Given the description of an element on the screen output the (x, y) to click on. 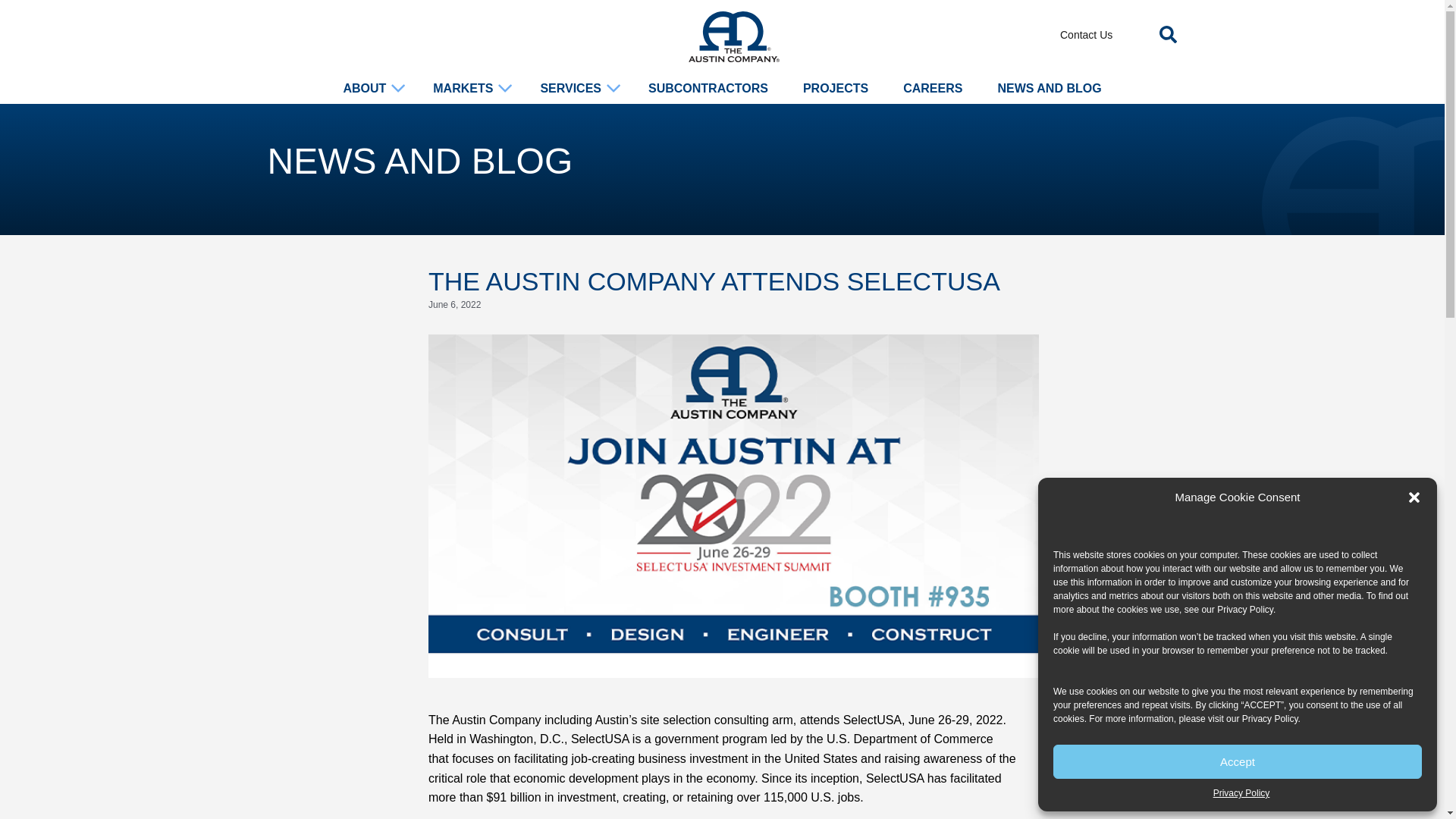
Accept (1237, 761)
Privacy Policy (1240, 793)
Privacy Policy (1244, 609)
